Given the description of an element on the screen output the (x, y) to click on. 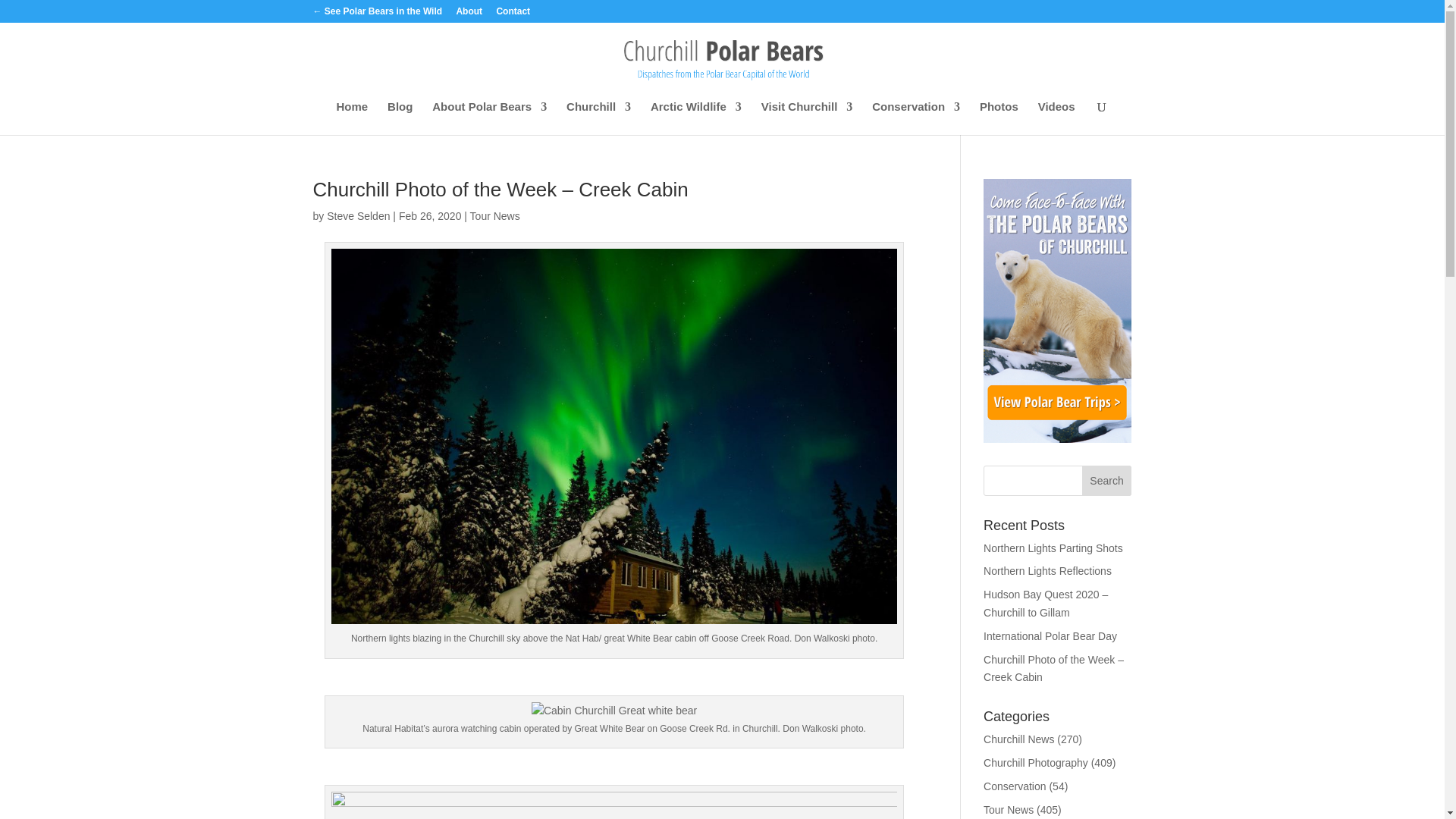
Search (1106, 481)
About Polar Bears (489, 117)
About (468, 14)
Arctic Wildlife (695, 117)
Conservation (915, 117)
Contact (512, 14)
Posts by Steve Selden (358, 215)
Churchill (598, 117)
Visit Churchill (807, 117)
Home (352, 117)
